Given the description of an element on the screen output the (x, y) to click on. 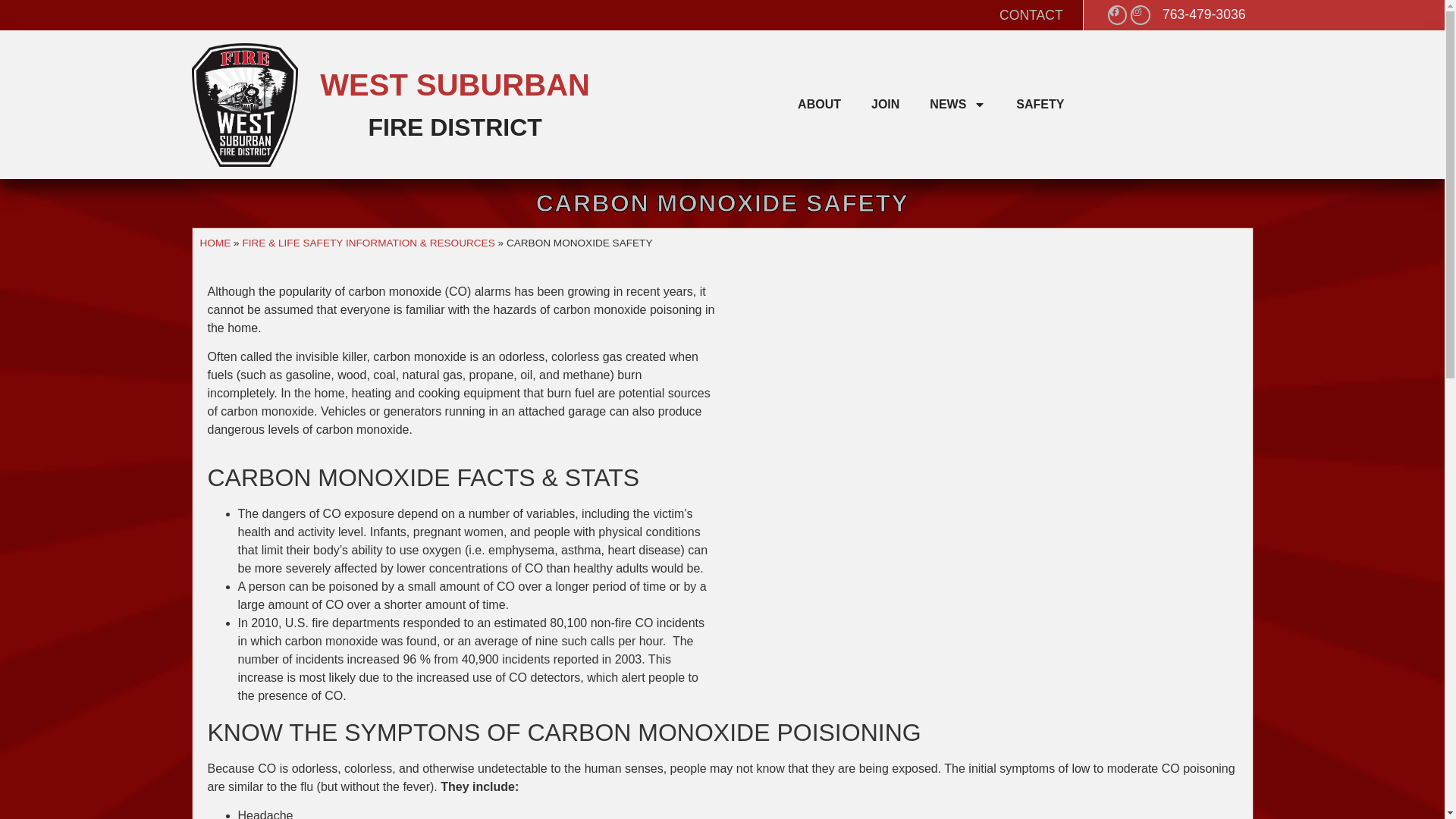
NEWS (957, 104)
763-479-3036 (1203, 14)
ABOUT (819, 104)
WEST SUBURBAN (454, 84)
JOIN (885, 104)
FIRE DISTRICT (454, 126)
CONTACT (1030, 15)
SAFETY (1039, 104)
HOME (215, 242)
